Given the description of an element on the screen output the (x, y) to click on. 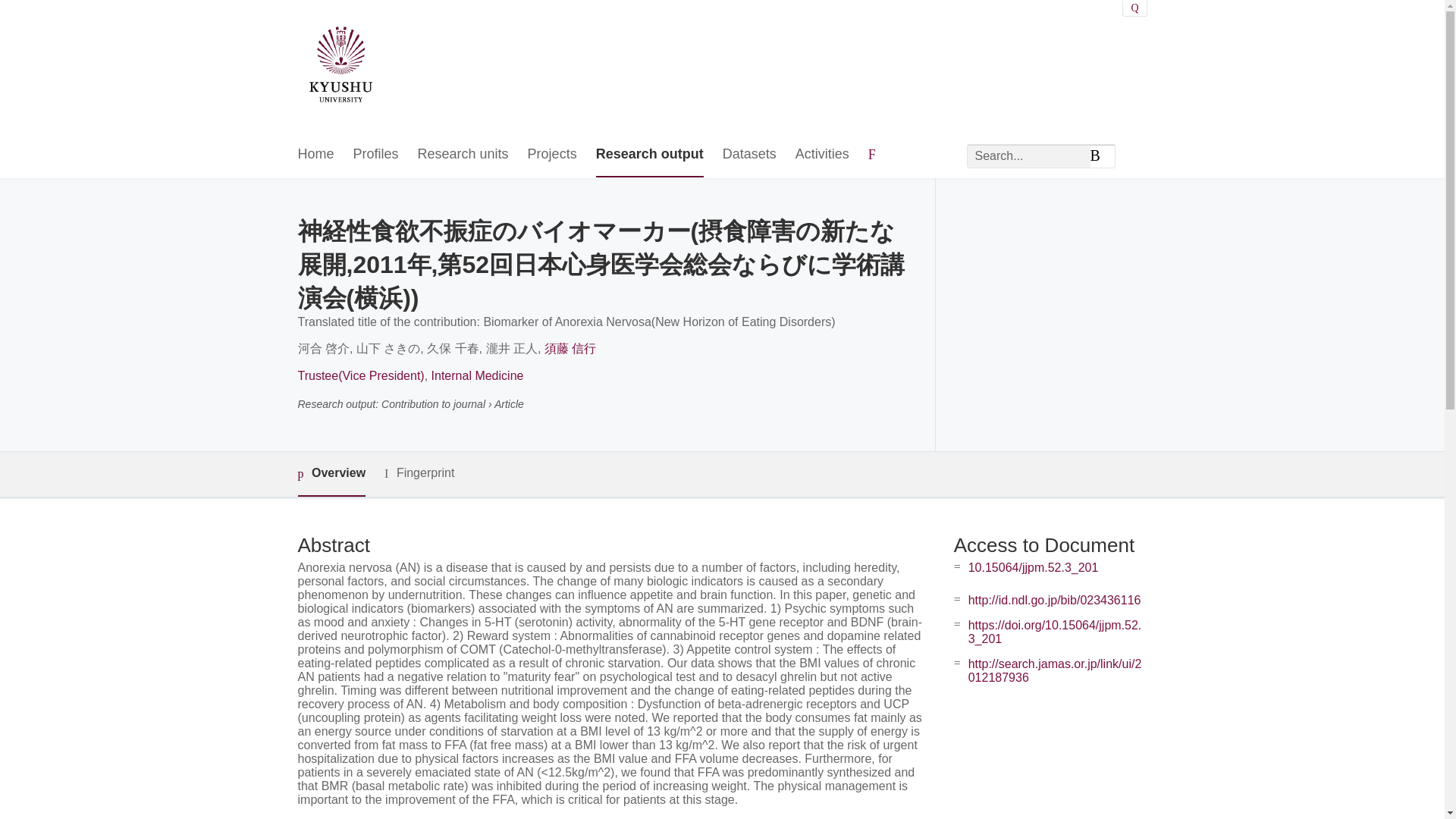
Activities (821, 154)
Fingerprint (419, 473)
Projects (551, 154)
Research output (649, 154)
Internal Medicine (477, 375)
Overview (331, 474)
Datasets (749, 154)
Research units (462, 154)
Profiles (375, 154)
